Given the description of an element on the screen output the (x, y) to click on. 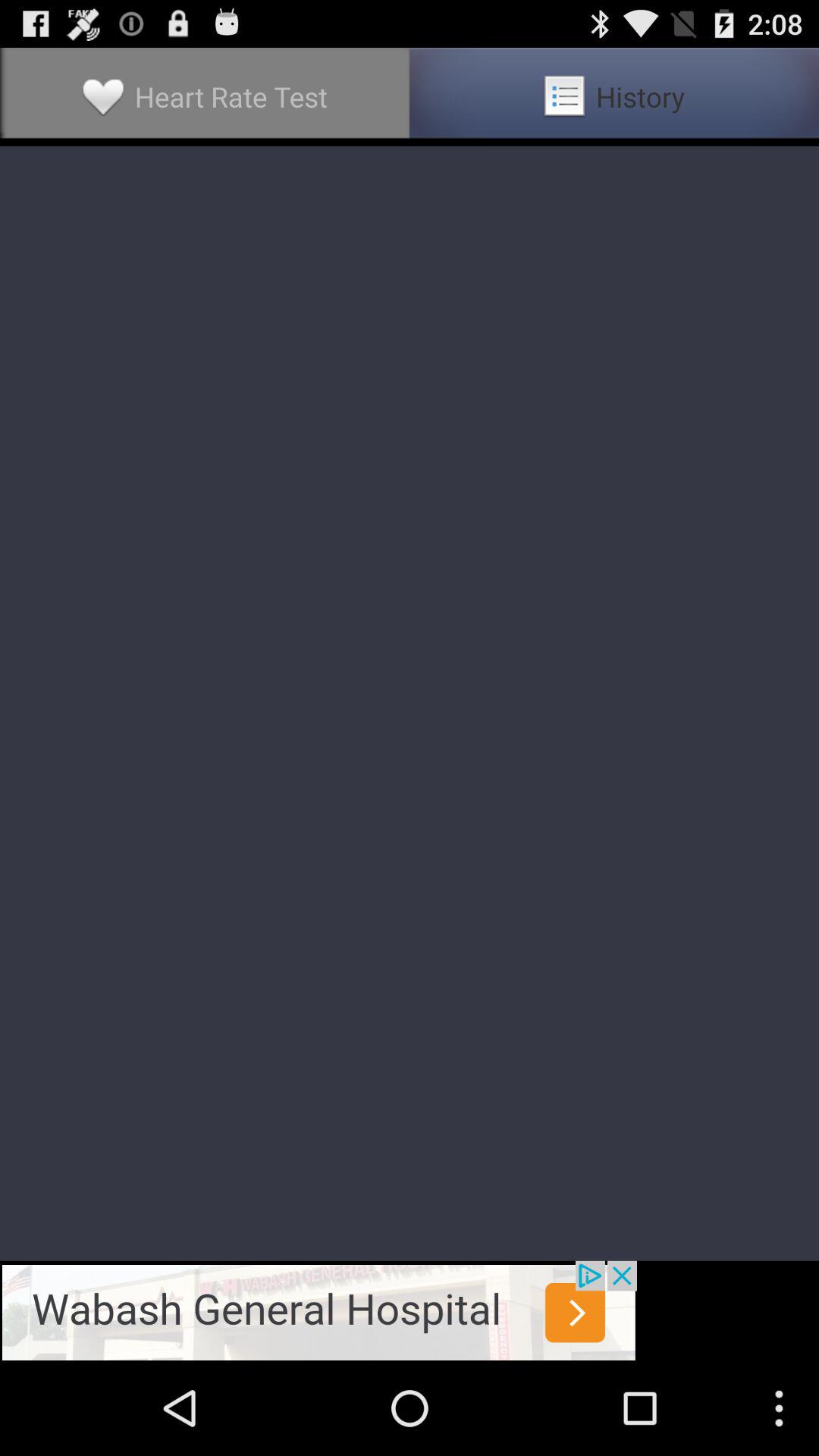
click to go to advt page (318, 1310)
